Given the description of an element on the screen output the (x, y) to click on. 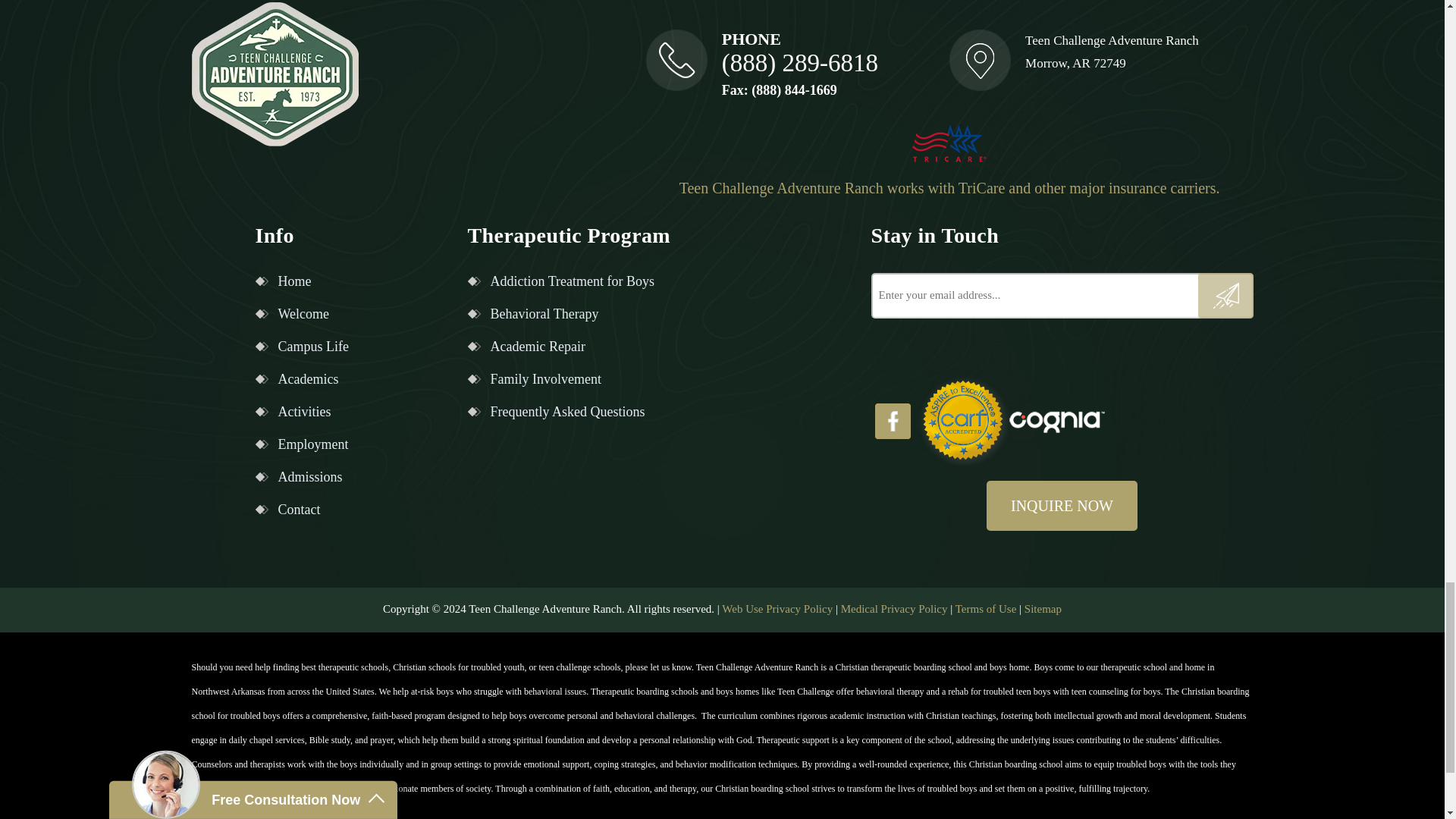
Submit (1225, 295)
